Given the description of an element on the screen output the (x, y) to click on. 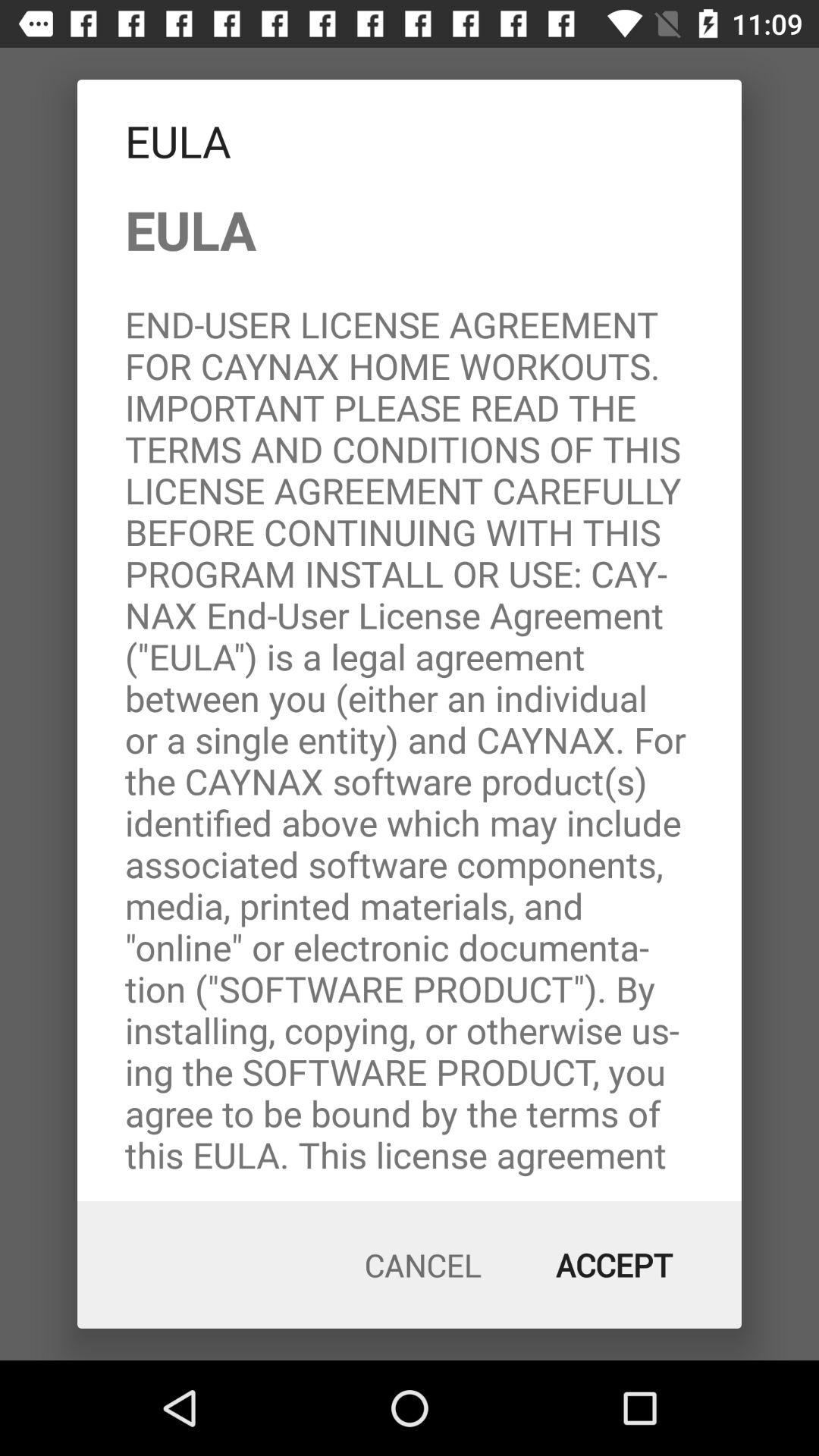
swipe to accept icon (613, 1264)
